Given the description of an element on the screen output the (x, y) to click on. 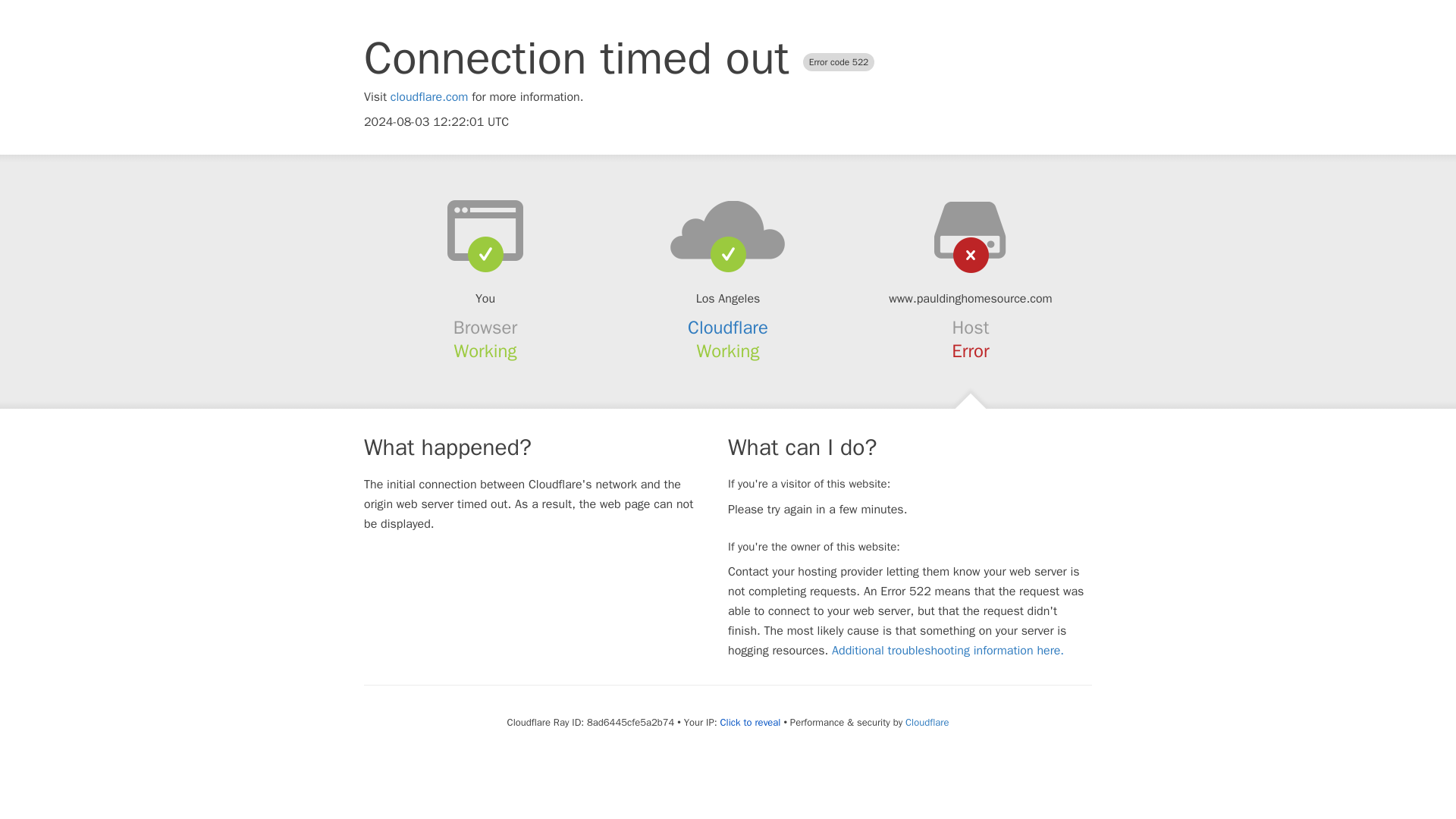
Cloudflare (927, 721)
cloudflare.com (429, 96)
Click to reveal (750, 722)
Additional troubleshooting information here. (947, 650)
Cloudflare (727, 327)
